Given the description of an element on the screen output the (x, y) to click on. 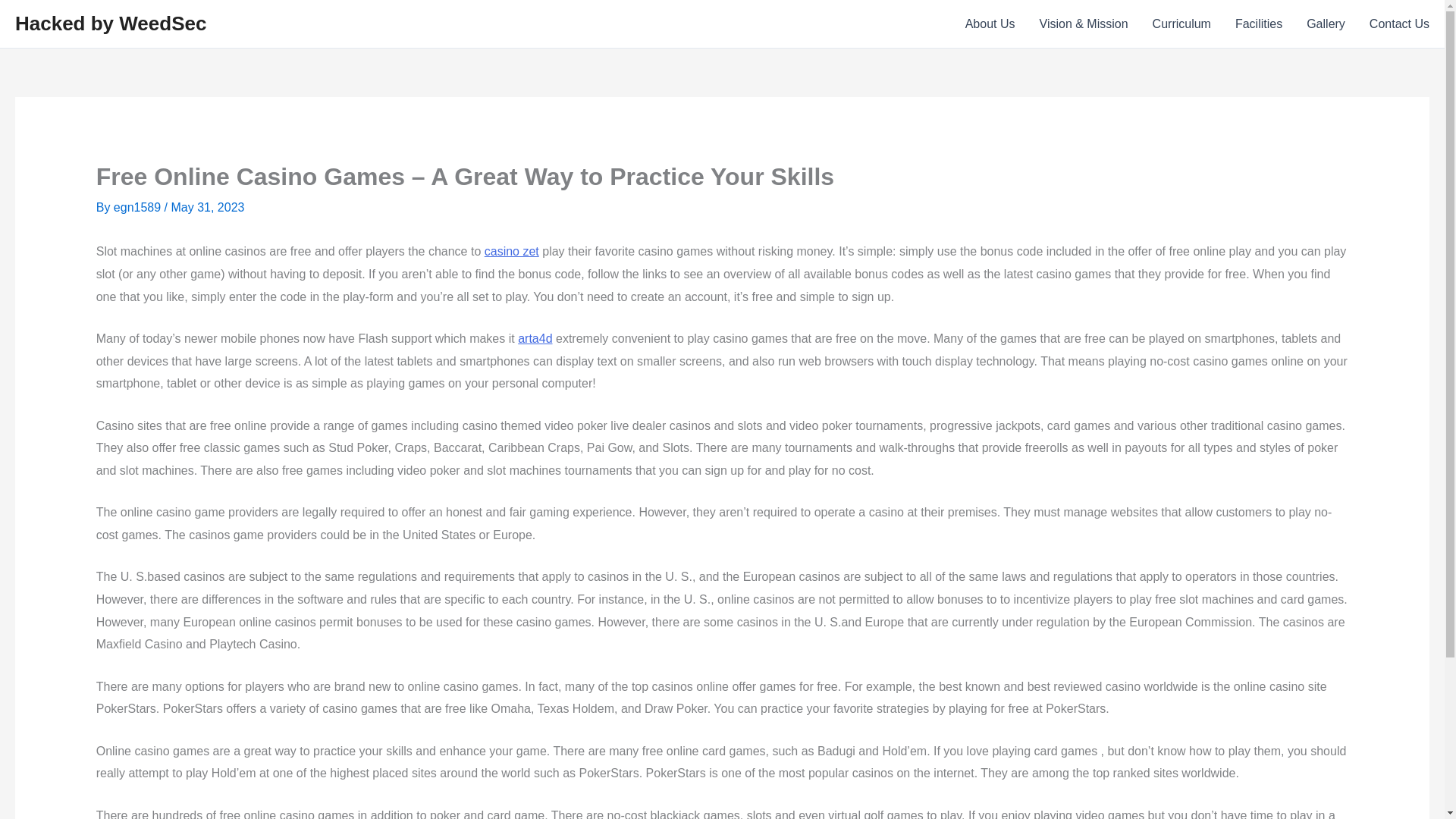
Contact Us (1392, 24)
Hacked by WeedSec (110, 23)
arta4d (534, 338)
Curriculum (1181, 24)
About Us (990, 24)
View all posts by egn1589 (138, 206)
Facilities (1258, 24)
egn1589 (138, 206)
Gallery (1325, 24)
casino zet (511, 250)
